Given the description of an element on the screen output the (x, y) to click on. 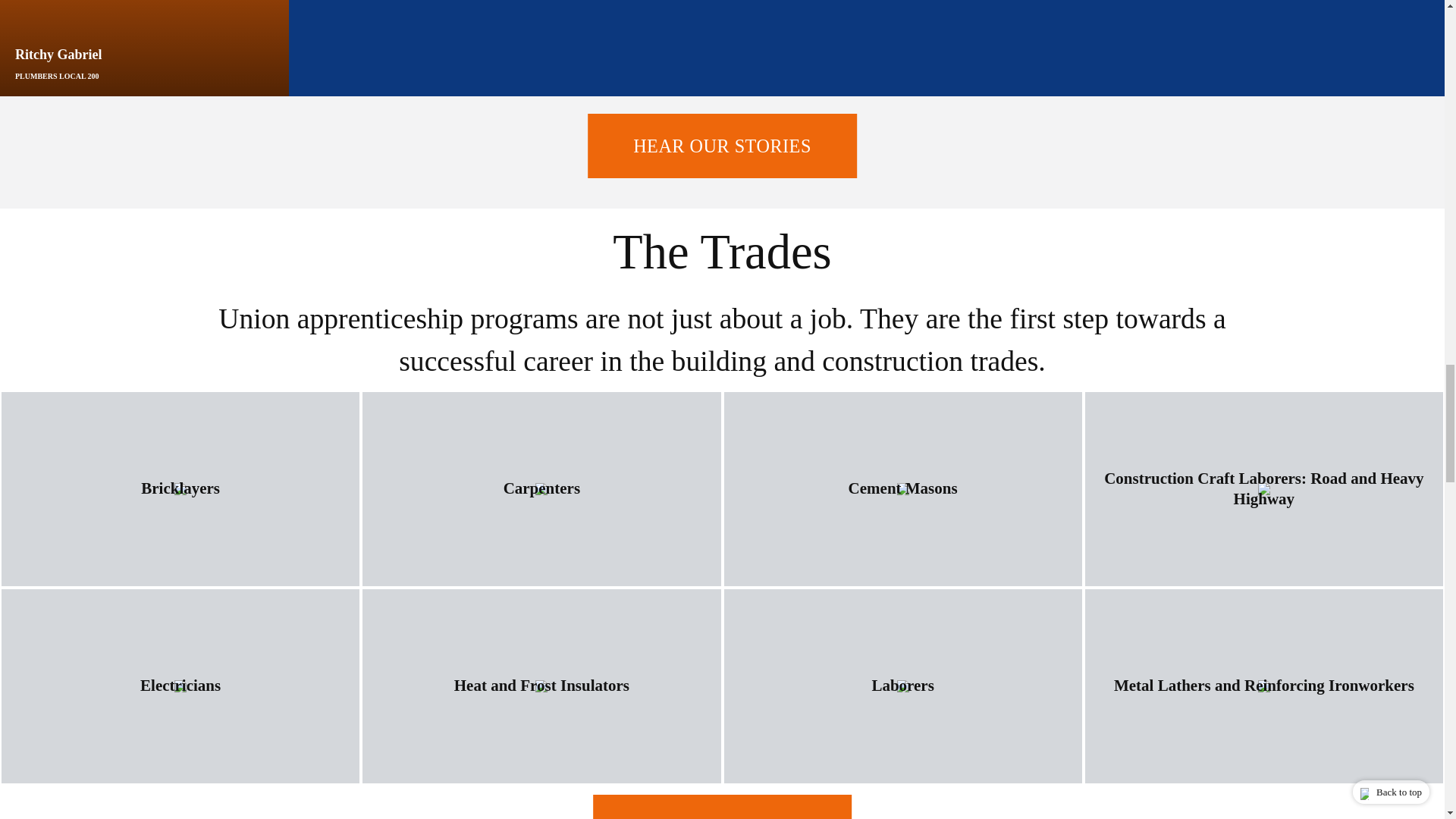
HEAR OUR STORIES (722, 145)
Ritchy Gabriel (144, 62)
VIEW ALL TRADES (721, 806)
